Given the description of an element on the screen output the (x, y) to click on. 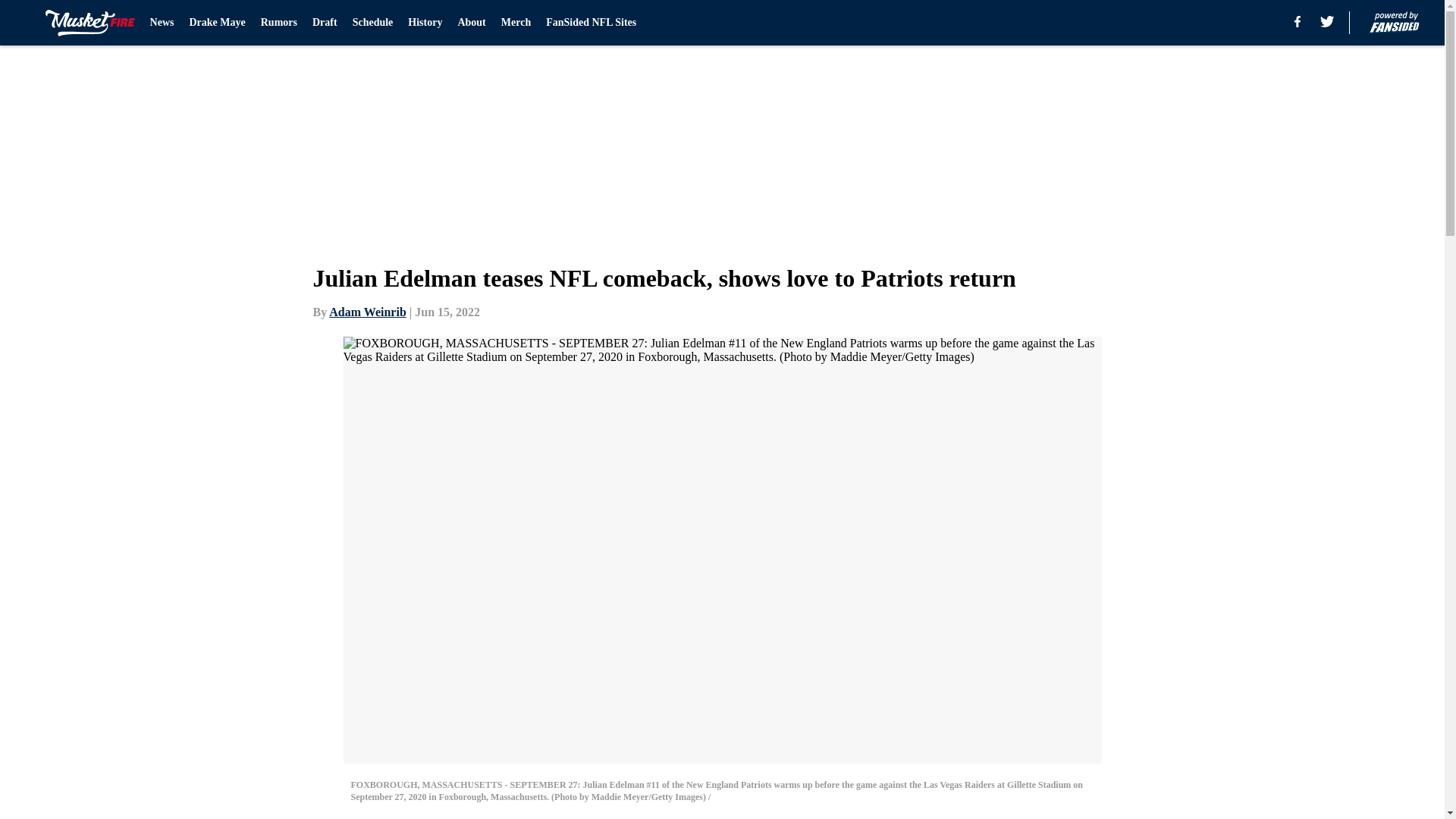
Rumors (278, 22)
FanSided NFL Sites (591, 22)
Drake Maye (216, 22)
News (161, 22)
Schedule (372, 22)
History (424, 22)
Draft (325, 22)
About (470, 22)
Merch (515, 22)
Adam Weinrib (367, 311)
